Given the description of an element on the screen output the (x, y) to click on. 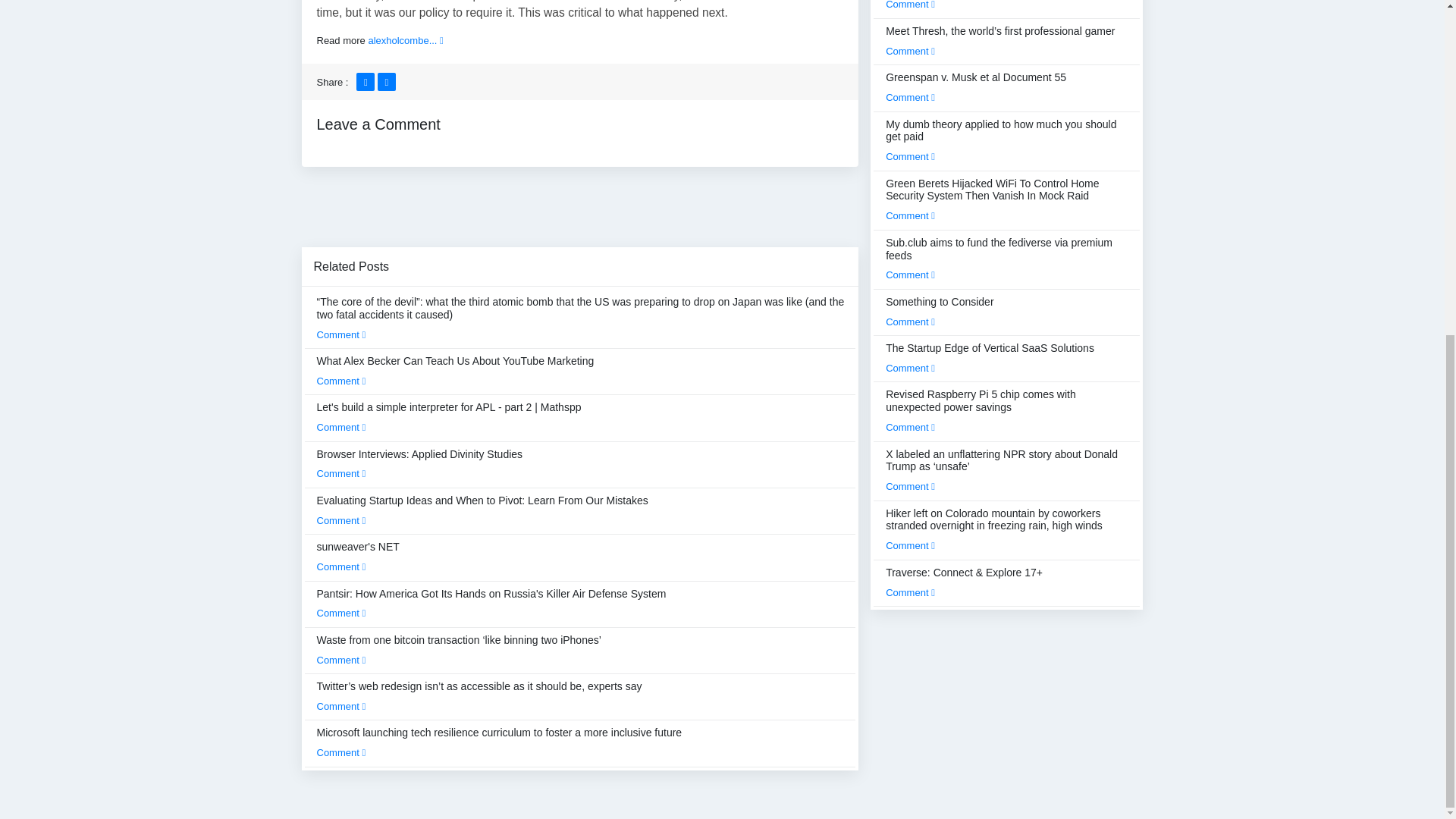
Comment (341, 473)
Comment (341, 659)
sunweaver's NET (357, 556)
Comment (341, 706)
Comment (341, 427)
alexholcombe... (405, 40)
Browser Interviews: Applied Divinity Studies (419, 463)
Comment (341, 613)
What Alex Becker Can Teach Us About YouTube Marketing (455, 370)
